Given the description of an element on the screen output the (x, y) to click on. 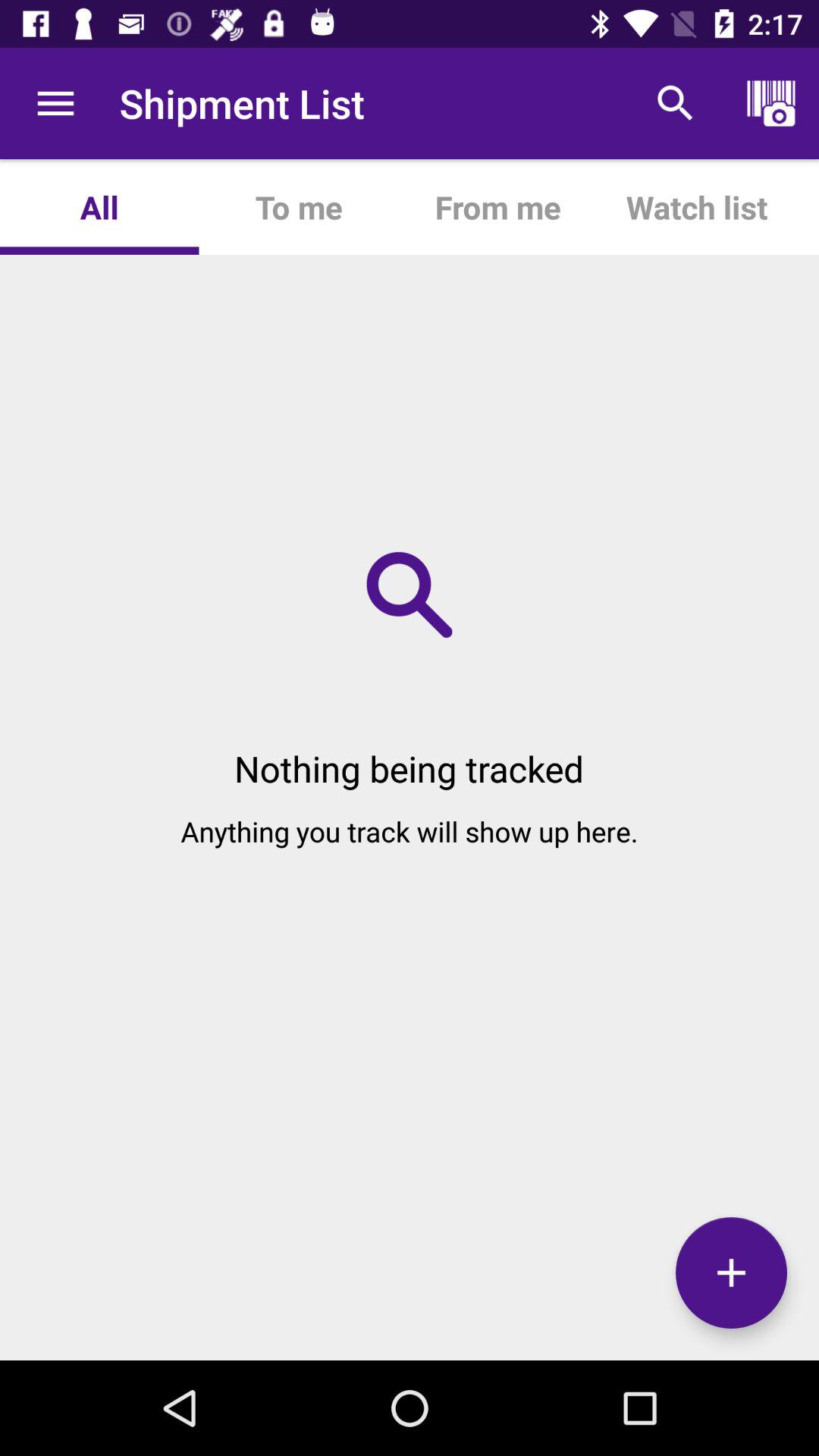
turn off the app to the left of the watch list item (497, 206)
